Given the description of an element on the screen output the (x, y) to click on. 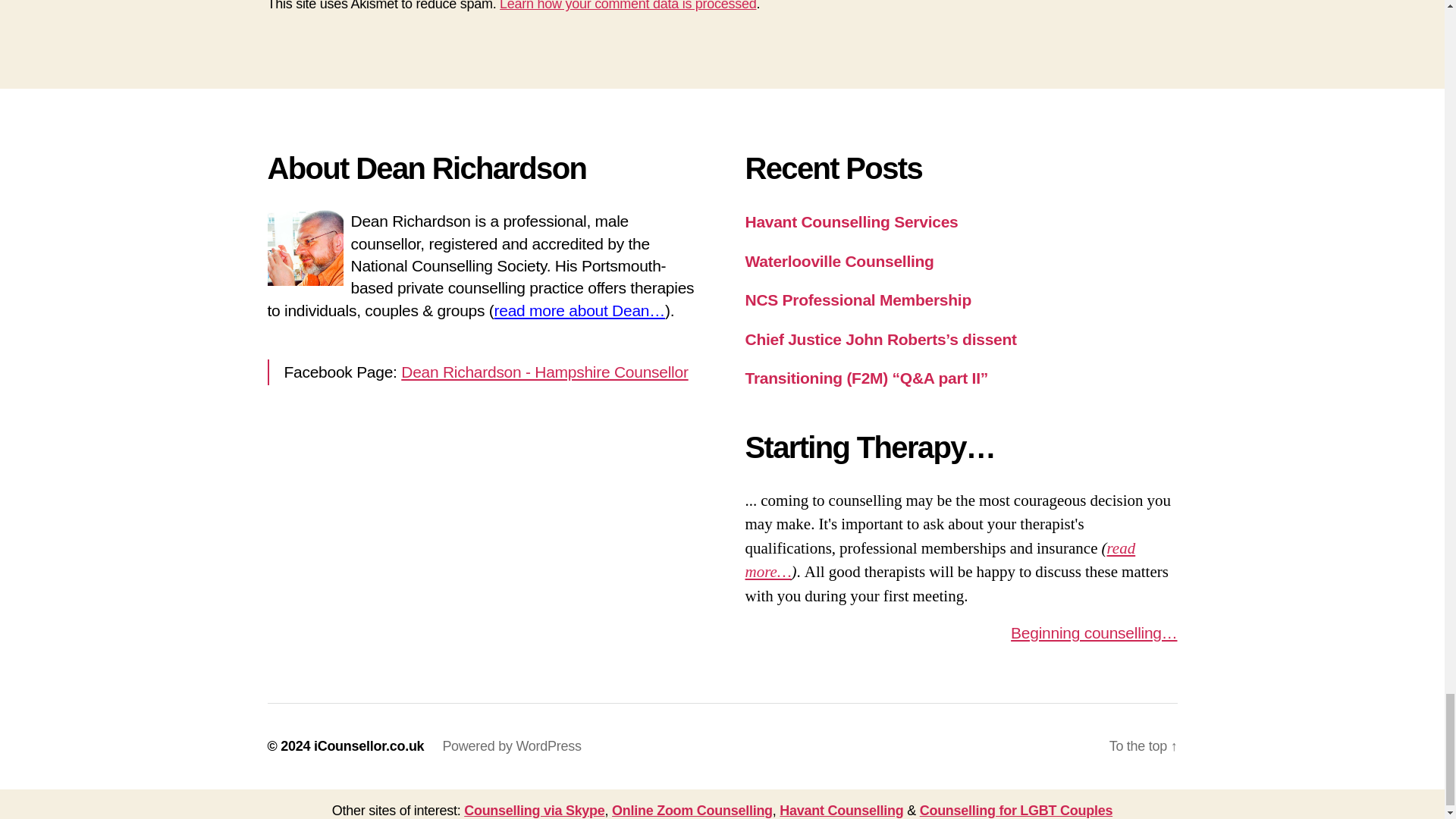
Online Counselling in Havant (840, 810)
Counsellor Dean Richardson (580, 310)
Counselling over Zoom (692, 810)
Video Counselling for LGBT Couples (1016, 810)
Counselling Over Skype (534, 810)
How to Start Counselling (1093, 632)
